Given the description of an element on the screen output the (x, y) to click on. 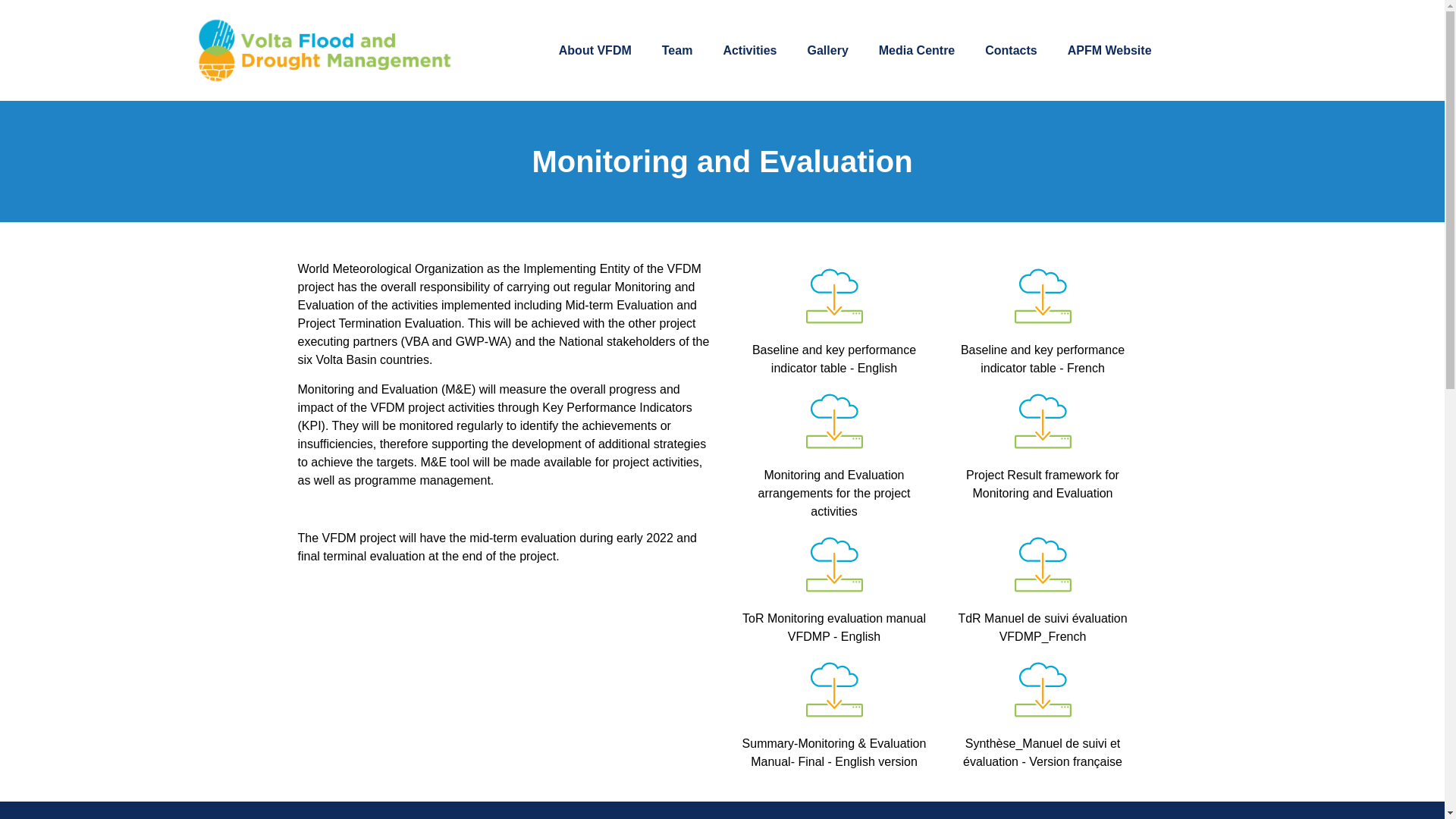
Activities (749, 50)
Media Centre (916, 50)
Gallery (827, 50)
APFM Website (1109, 50)
Contacts (1010, 50)
Team (676, 50)
About VFDM (594, 50)
